Given the description of an element on the screen output the (x, y) to click on. 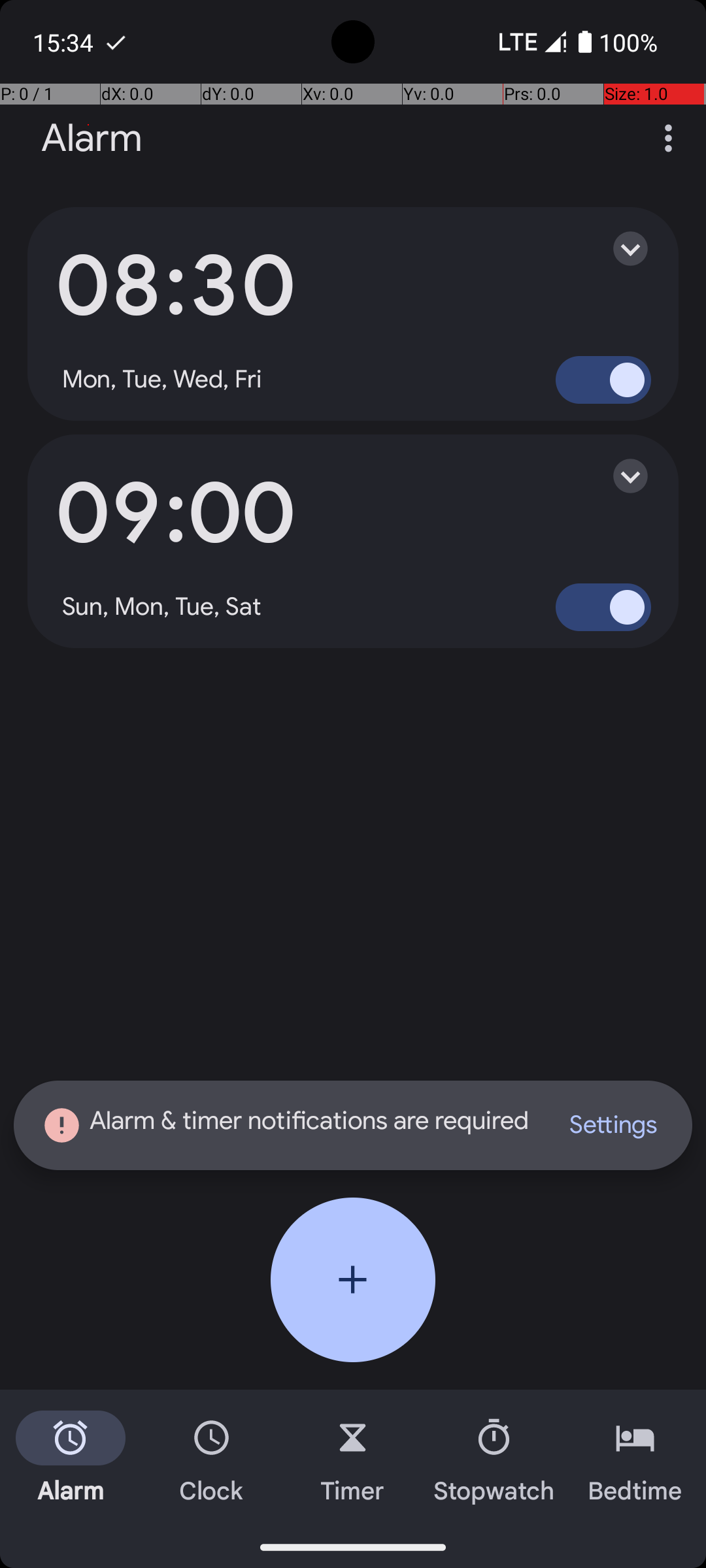
Mon, Tue, Wed, Fri Element type: android.widget.TextView (161, 379)
Sun, Mon, Tue, Sat Element type: android.widget.TextView (161, 606)
Alarm & timer notifications are required Element type: android.widget.TextView (287, 1125)
